Given the description of an element on the screen output the (x, y) to click on. 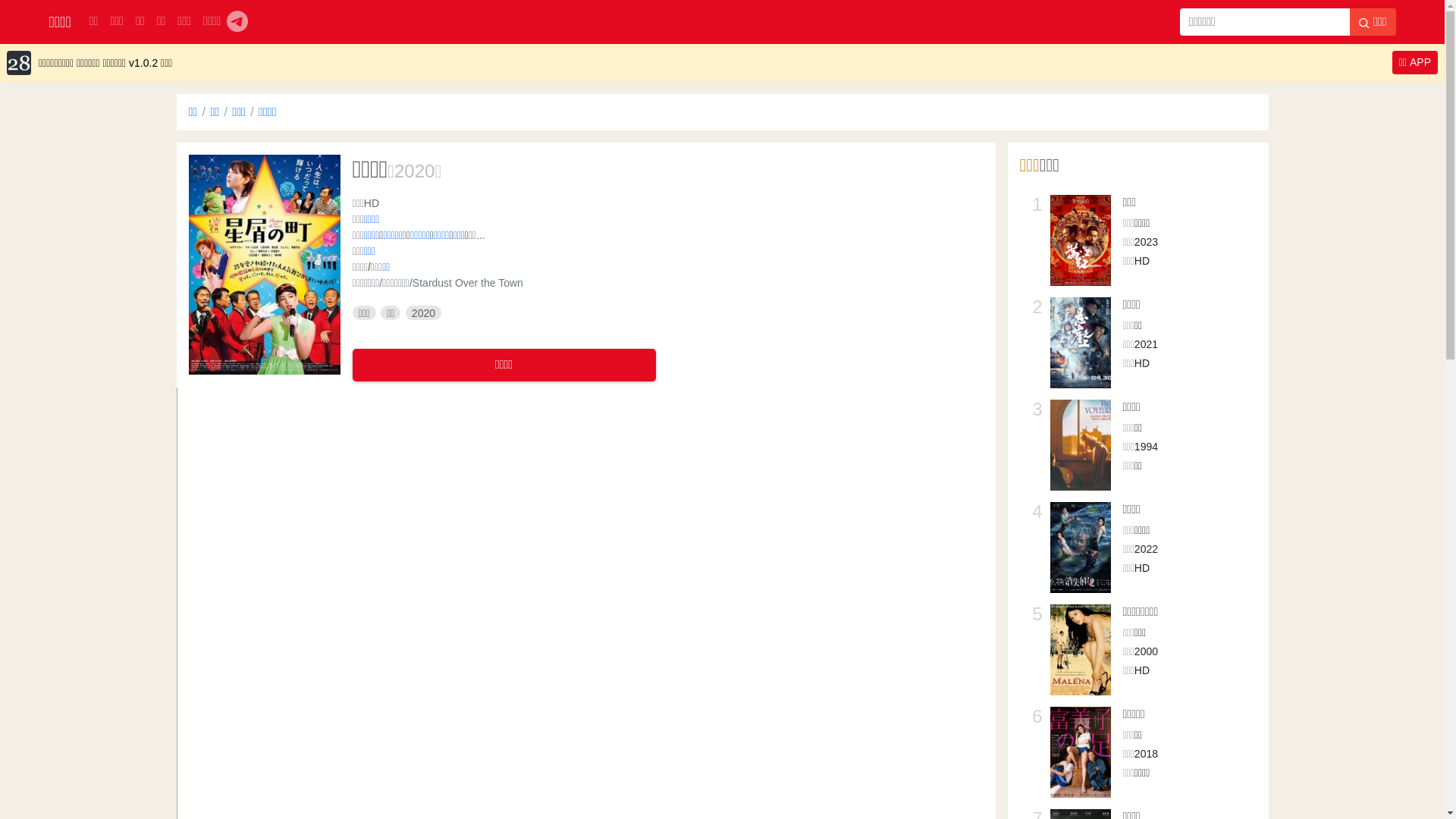
2020 Element type: text (414, 170)
2020 Element type: text (423, 312)
